Given the description of an element on the screen output the (x, y) to click on. 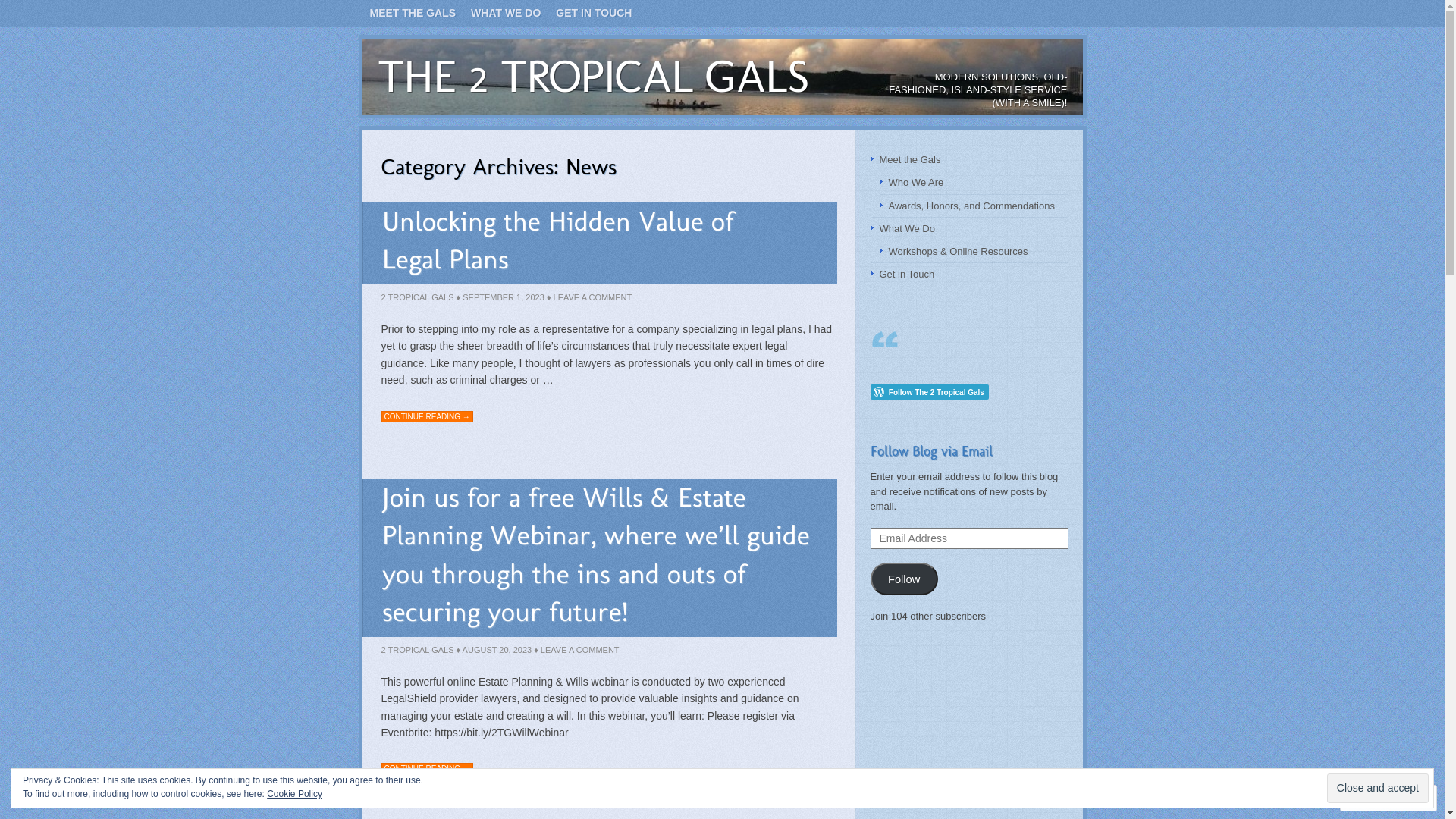
Meet the Gals Element type: text (910, 159)
Get in Touch Element type: text (907, 273)
WHAT WE DO Element type: text (505, 13)
Cookie Policy Element type: text (294, 793)
LEAVE A COMMENT Element type: text (592, 296)
Workshops & Online Resources Element type: text (958, 251)
AUGUST 20, 2023 Element type: text (497, 649)
Close and accept Element type: text (1377, 788)
GET IN TOUCH Element type: text (593, 13)
Who We Are Element type: text (916, 182)
LEAVE A COMMENT Element type: text (579, 649)
Follow Button Element type: hover (968, 390)
Awards, Honors, and Commendations Element type: text (971, 205)
Follow Element type: text (1374, 797)
2 TROPICAL GALS Element type: text (416, 296)
Follow Element type: text (904, 579)
SEPTEMBER 1, 2023 Element type: text (503, 296)
Unlocking the Hidden Value of Legal Plans Element type: text (558, 239)
MEET THE GALS Element type: text (413, 13)
2 TROPICAL GALS Element type: text (416, 649)
What We Do Element type: text (907, 228)
